Given the description of an element on the screen output the (x, y) to click on. 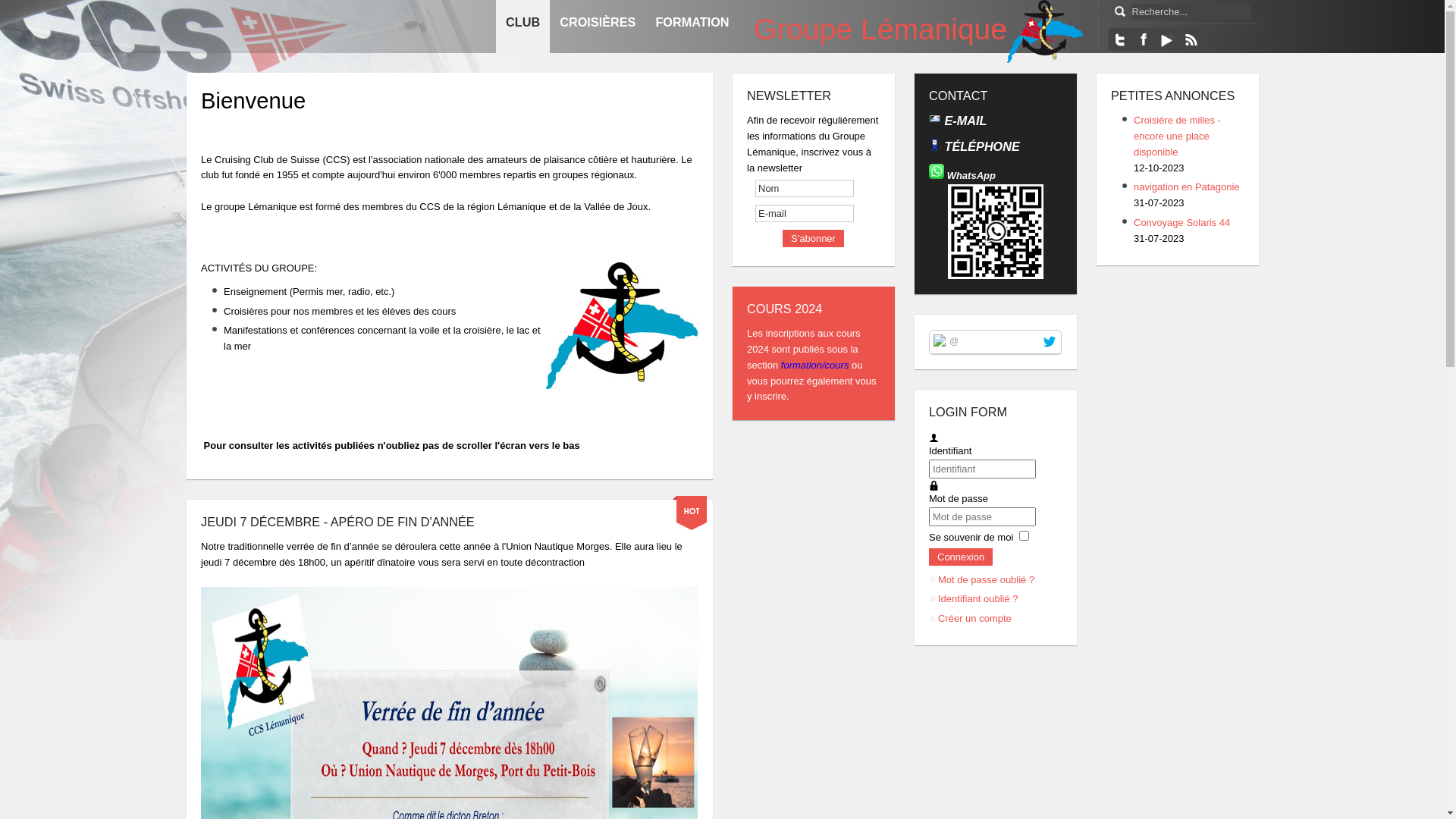
formation/cours Element type: text (816, 364)
navigation en Patagonie Element type: text (1186, 186)
E-MAIL Element type: text (963, 120)
@ Element type: text (953, 340)
CLUB Element type: text (522, 26)
Facebook Element type: text (1142, 39)
Youtube Element type: text (1166, 39)
Connexion Element type: text (960, 556)
Identifiant Element type: hover (933, 438)
Convoyage Solaris 44 Element type: text (1181, 222)
twitter Element type: text (1049, 340)
FORMATION Element type: text (691, 26)
E-mail Element type: hover (804, 213)
Nom Element type: hover (804, 188)
RSS Element type: text (1189, 39)
WhatsApp Element type: text (971, 175)
Twitter Element type: text (1119, 39)
Mot de passe Element type: hover (933, 485)
S'abonner Element type: text (813, 238)
